Given the description of an element on the screen output the (x, y) to click on. 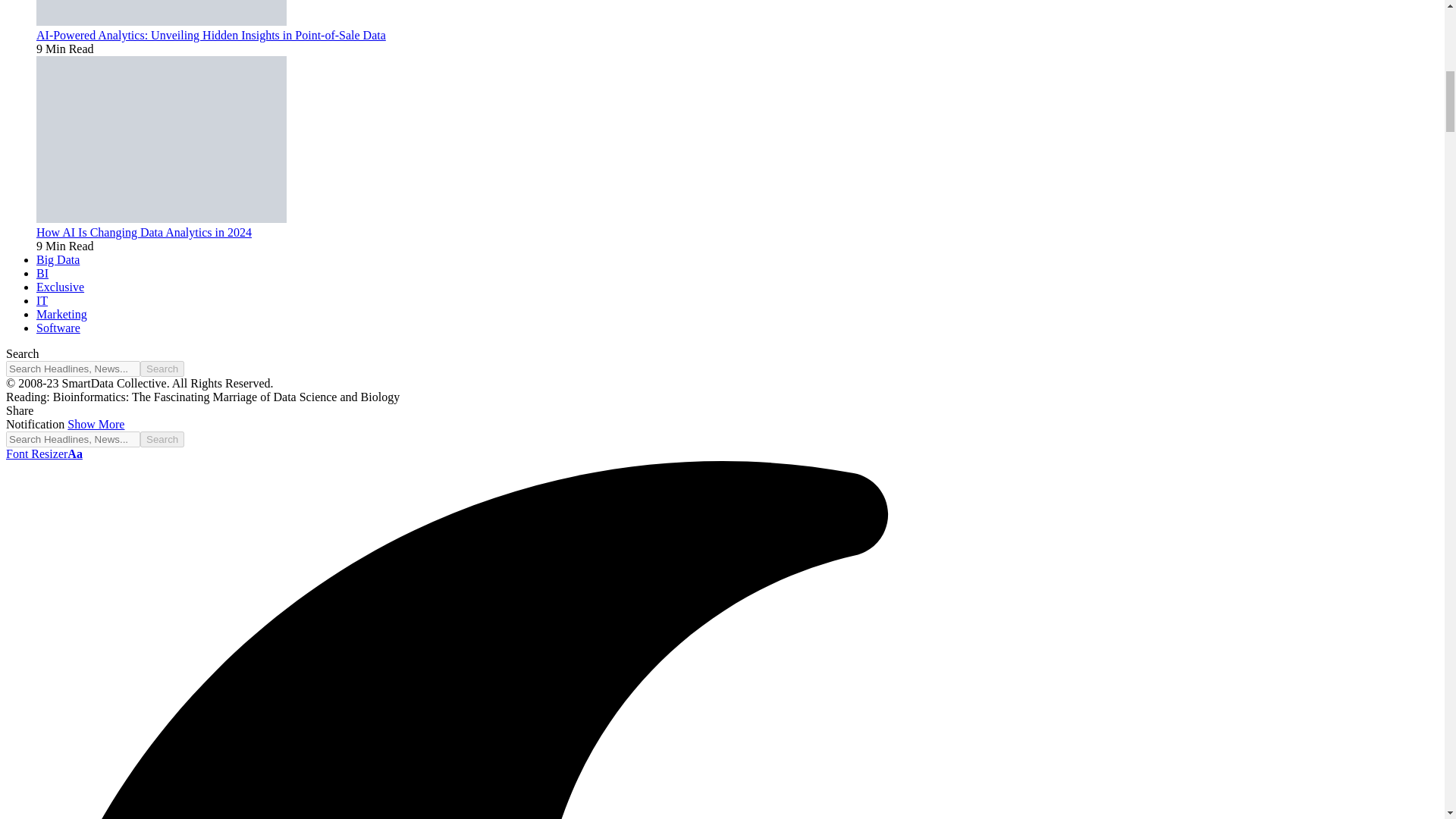
Search (161, 368)
Search (161, 439)
Big Data (58, 259)
Marketing (61, 314)
How AI Is Changing Data Analytics in 2024 (161, 218)
Search (161, 439)
Business Intelligence (42, 273)
Exclusive (60, 286)
Font ResizerAa (43, 453)
BI (42, 273)
Show More (94, 423)
Software (58, 327)
Search (161, 368)
